Given the description of an element on the screen output the (x, y) to click on. 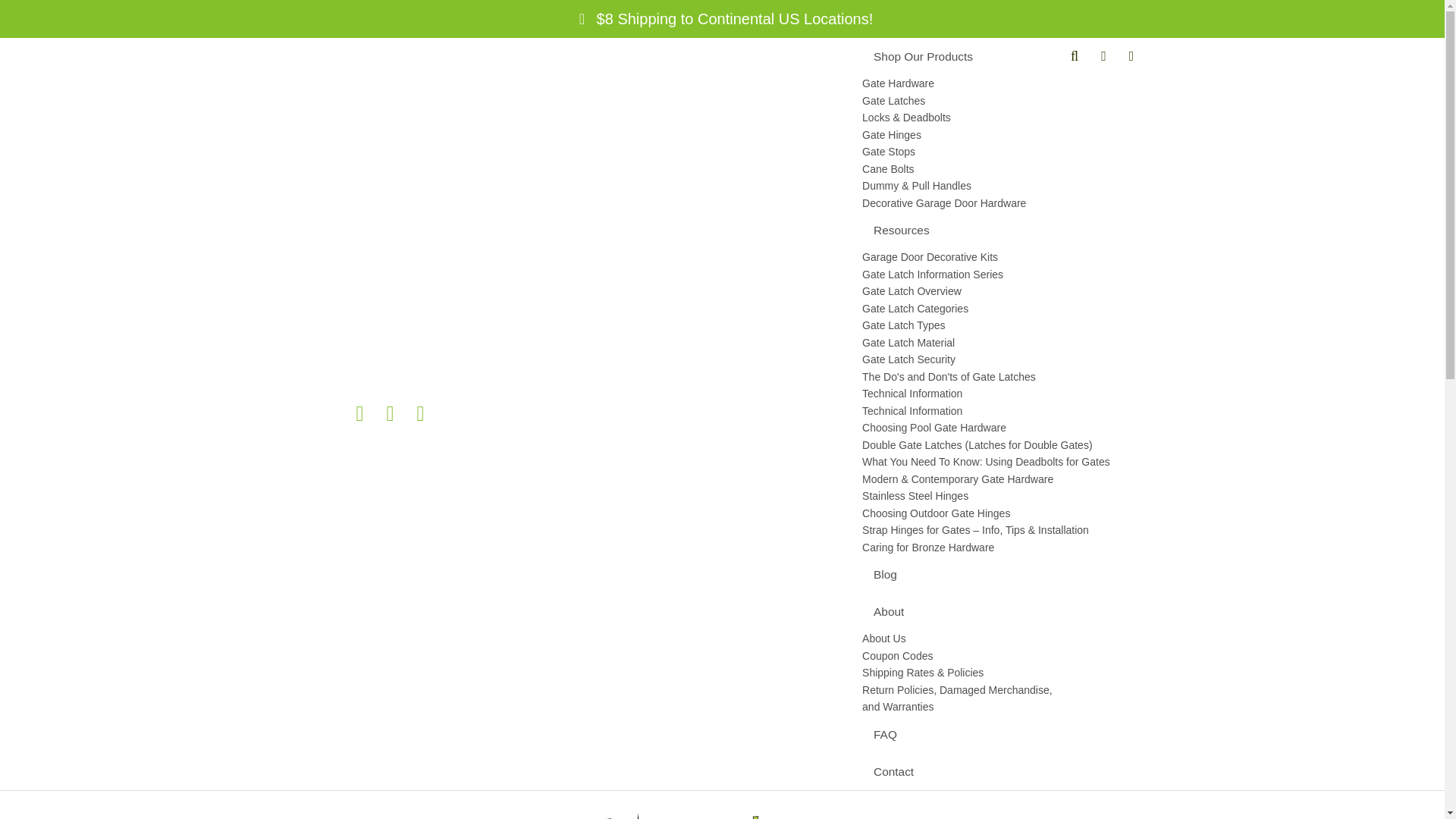
About Us Element type: text (960, 638)
Stainless Steel Hinges Element type: text (994, 496)
Decorative Garage Door Hardware Element type: text (960, 202)
What You Need To Know: Using Deadbolts for Gates Element type: text (994, 461)
Resources Element type: text (960, 229)
Modern & Contemporary Gate Hardware Element type: text (994, 478)
Shipping Rates & Policies Element type: text (960, 672)
instagram Element type: hover (420, 413)
Shop Our Products Element type: text (960, 56)
Gate Hinges Element type: text (994, 134)
Dummy & Pull Handles Element type: text (994, 185)
Houzz Element type: hover (333, 413)
Pinterest Element type: hover (394, 413)
Locks & Deadbolts Element type: text (994, 117)
Gate Latch Types Element type: text (994, 325)
Choosing Outdoor Gate Hinges Element type: text (994, 513)
About Element type: text (960, 611)
Garage Door Decorative Kits Element type: text (960, 257)
Double Gate Latches (Latches for Double Gates) Element type: text (994, 445)
Contact Element type: text (960, 770)
Gate Latch Categories Element type: text (994, 308)
Facebook Element type: hover (363, 413)
Gate Hardware Element type: text (960, 83)
Pinterest Element type: hover (390, 413)
instagram Element type: hover (424, 413)
Facebook Element type: hover (360, 413)
Blog Element type: text (960, 574)
FAQ Element type: text (960, 734)
Technical Information Element type: text (994, 410)
Gate Latch Information Series Element type: text (960, 273)
Choosing Pool Gate Hardware Element type: text (994, 427)
Gate Stops Element type: text (994, 151)
Gate Latch Overview Element type: text (994, 291)
Technical Information Element type: text (960, 393)
Gate Latch Material Element type: text (994, 342)
Coupon Codes Element type: text (960, 656)
Gate Latches Element type: text (994, 100)
Gate Latch Security Element type: text (994, 359)
Houzz Element type: hover (335, 413)
Return Policies, Damaged Merchandise, and Warranties Element type: text (960, 697)
Cane Bolts Element type: text (994, 169)
The Do's and Don'ts of Gate Latches Element type: text (994, 376)
Caring for Bronze Hardware Element type: text (994, 546)
